Given the description of an element on the screen output the (x, y) to click on. 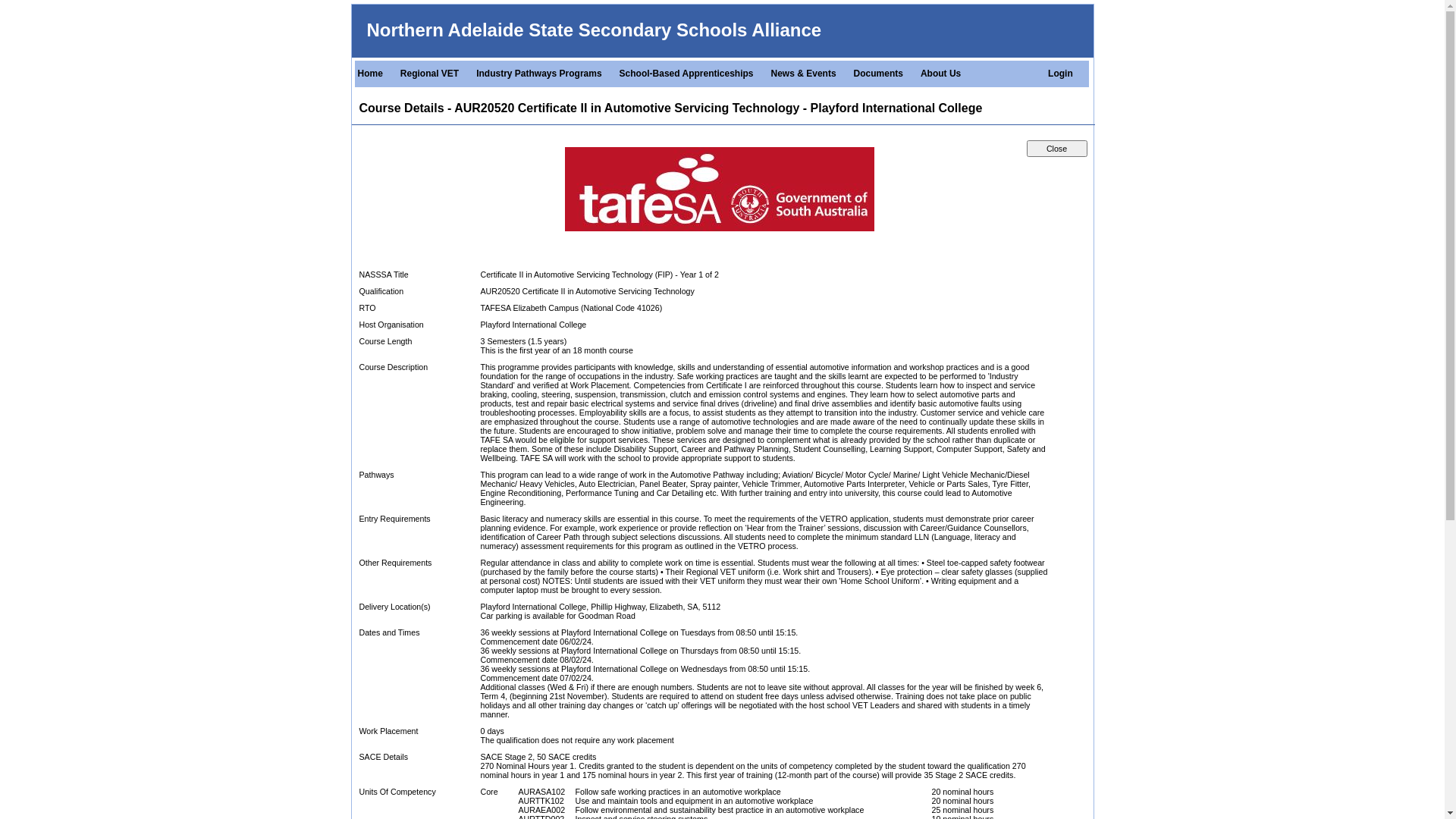
Industry Pathways Programs Element type: text (540, 73)
Documents Element type: text (880, 73)
School-Based Apprenticeships Element type: text (688, 73)
Regional VET Element type: text (431, 73)
Home Element type: text (372, 73)
Login Element type: text (1062, 73)
News & Events Element type: text (805, 73)
Close Element type: text (1056, 148)
About Us Element type: text (942, 73)
